Given the description of an element on the screen output the (x, y) to click on. 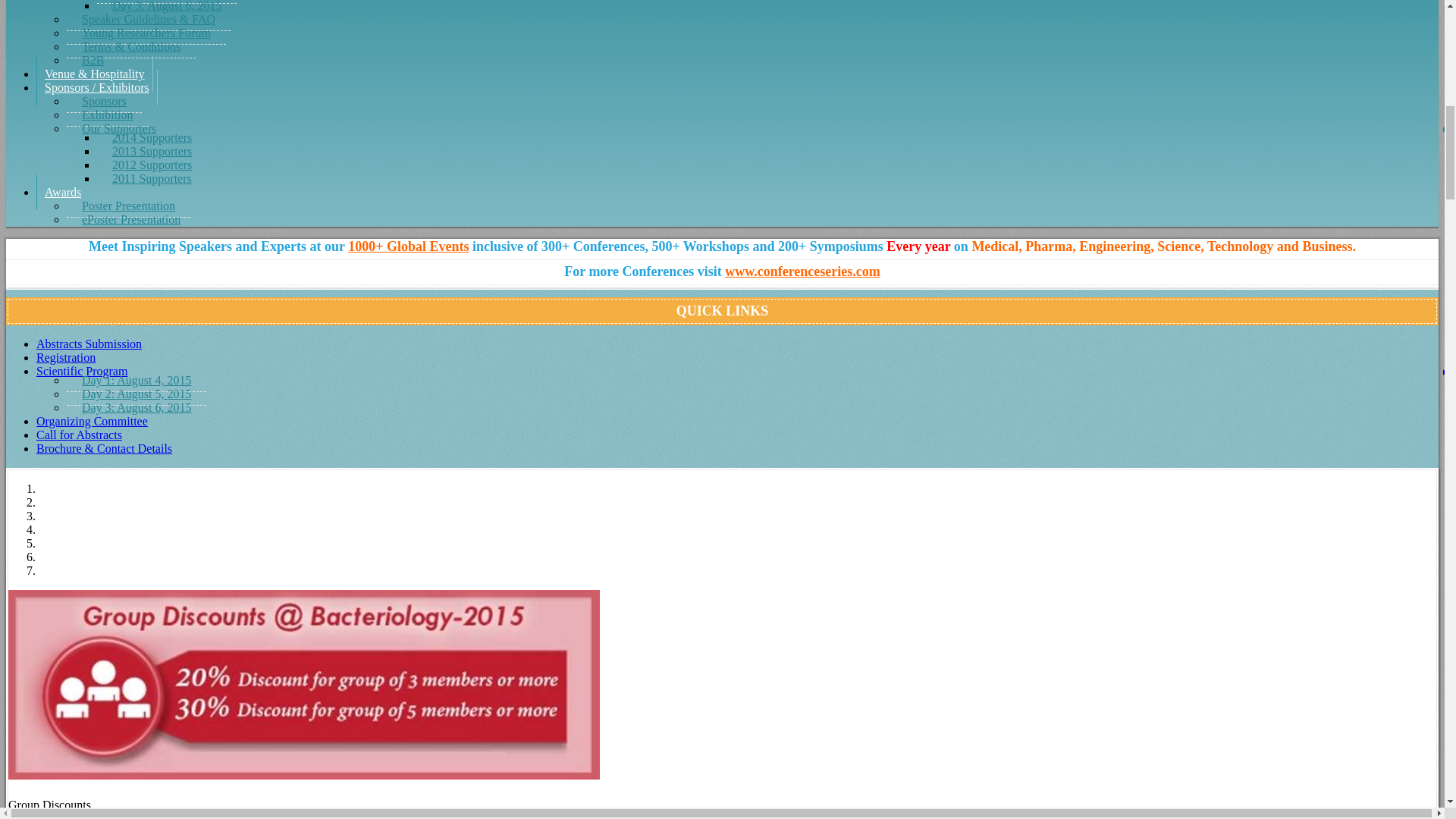
Day 3: August 6, 2015 (166, 8)
Day 2: August 5, 2015 (166, 2)
Young Researchers Forum (145, 33)
